Given the description of an element on the screen output the (x, y) to click on. 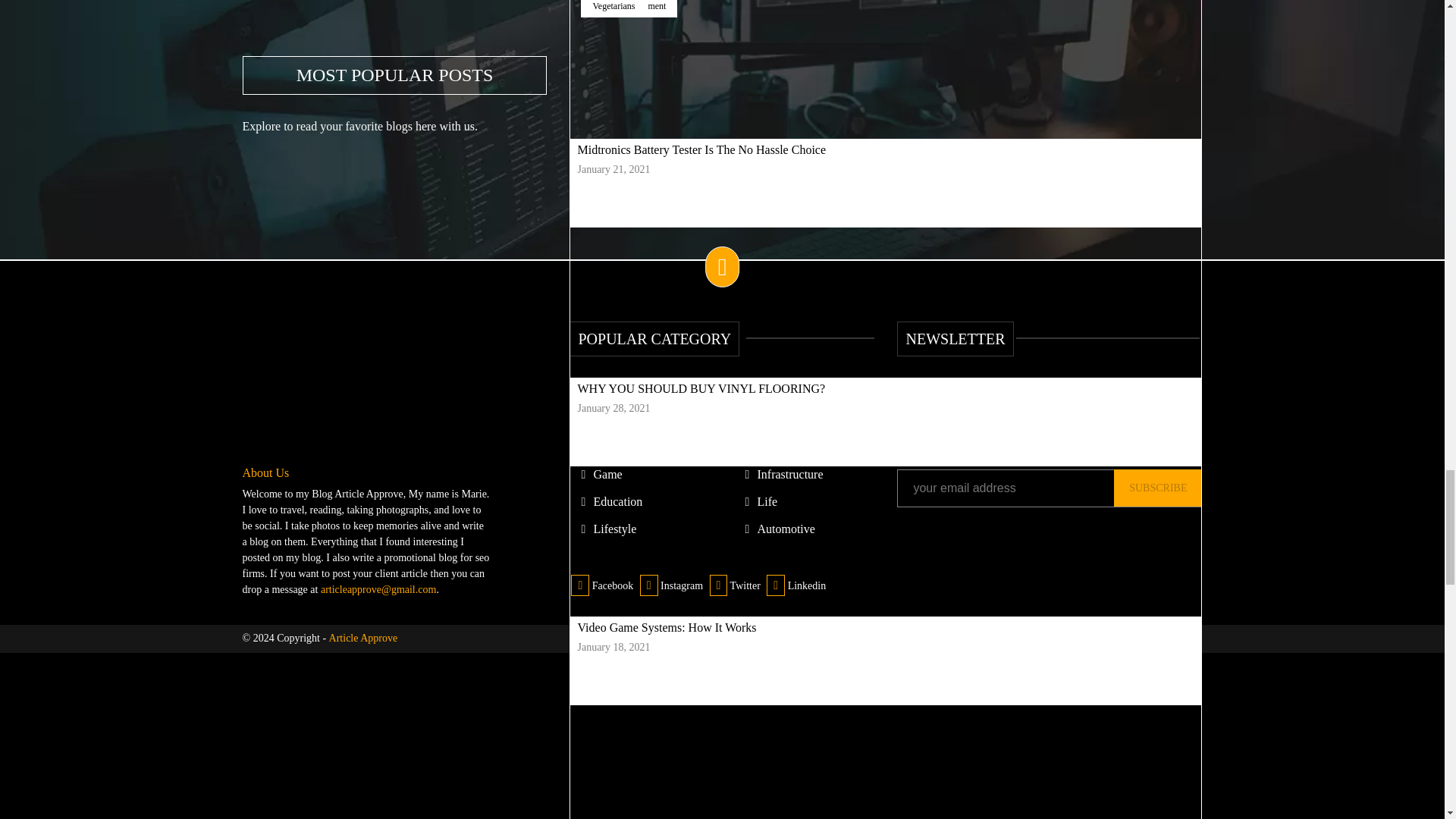
Subscribe (1157, 487)
